Given the description of an element on the screen output the (x, y) to click on. 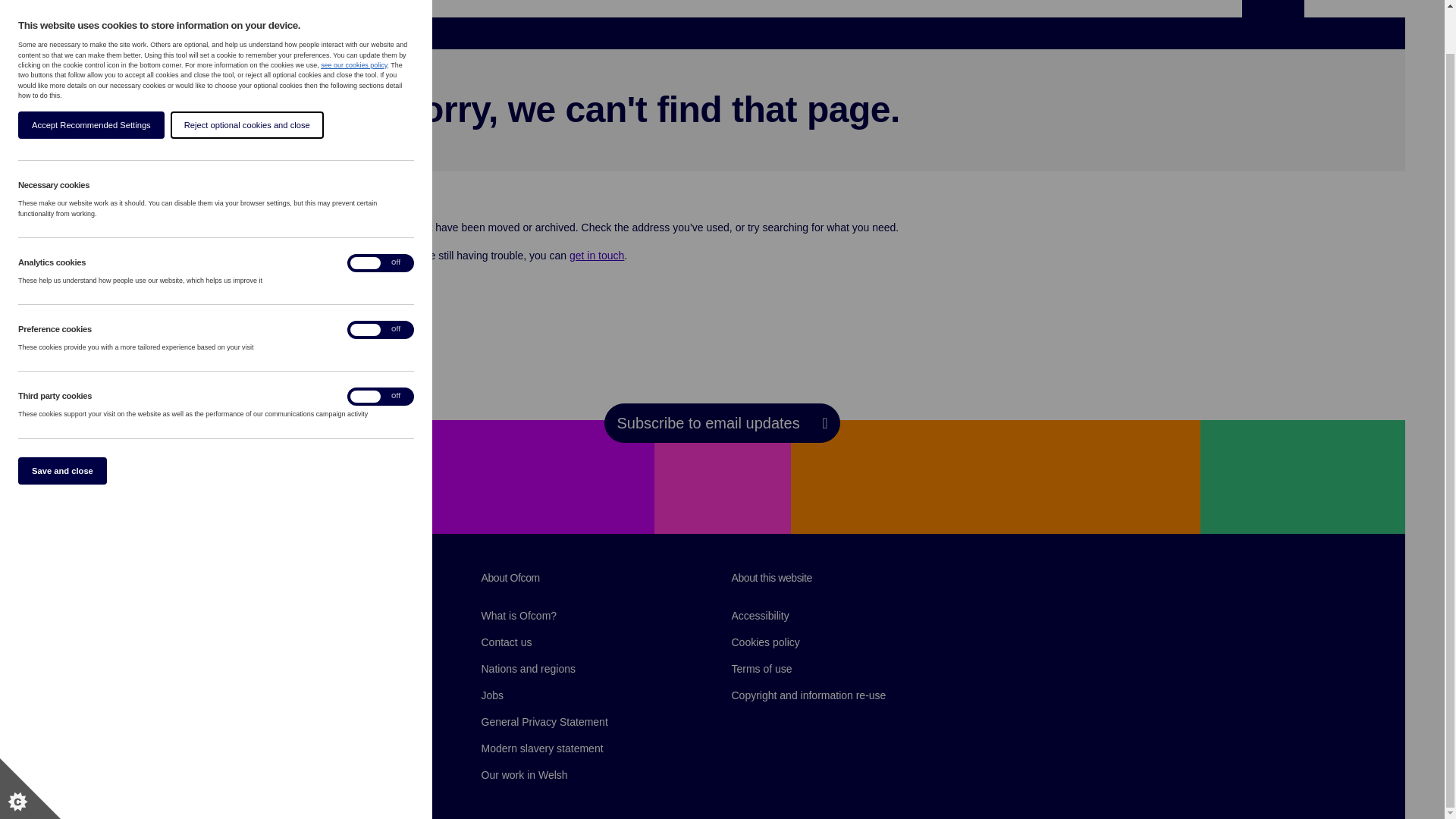
Topics (557, 2)
Reject optional cookies and close (53, 79)
Cookie policy (353, 18)
Ofcom's work (660, 2)
Complaints (777, 2)
